Given the description of an element on the screen output the (x, y) to click on. 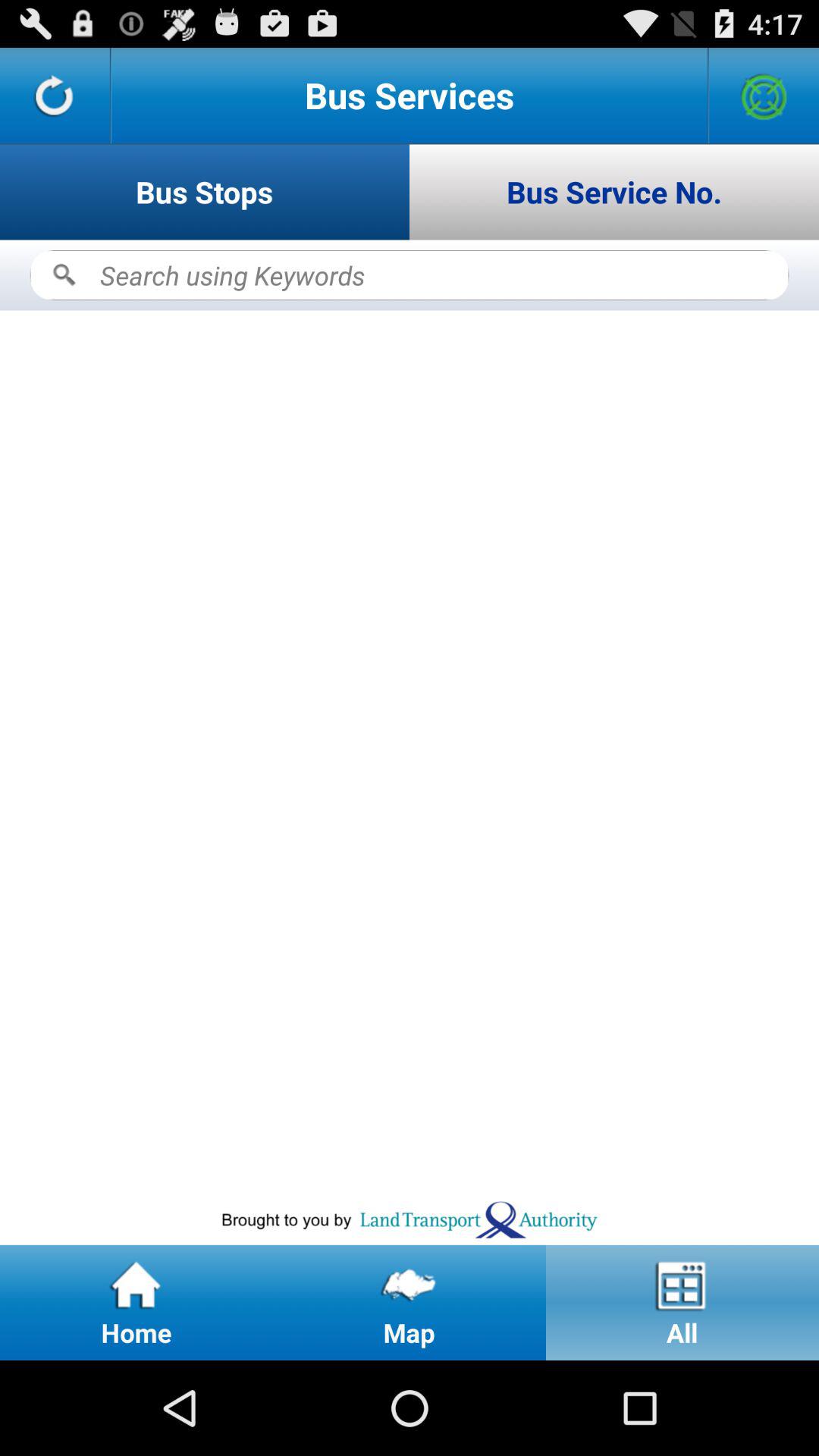
refresh button (54, 95)
